Given the description of an element on the screen output the (x, y) to click on. 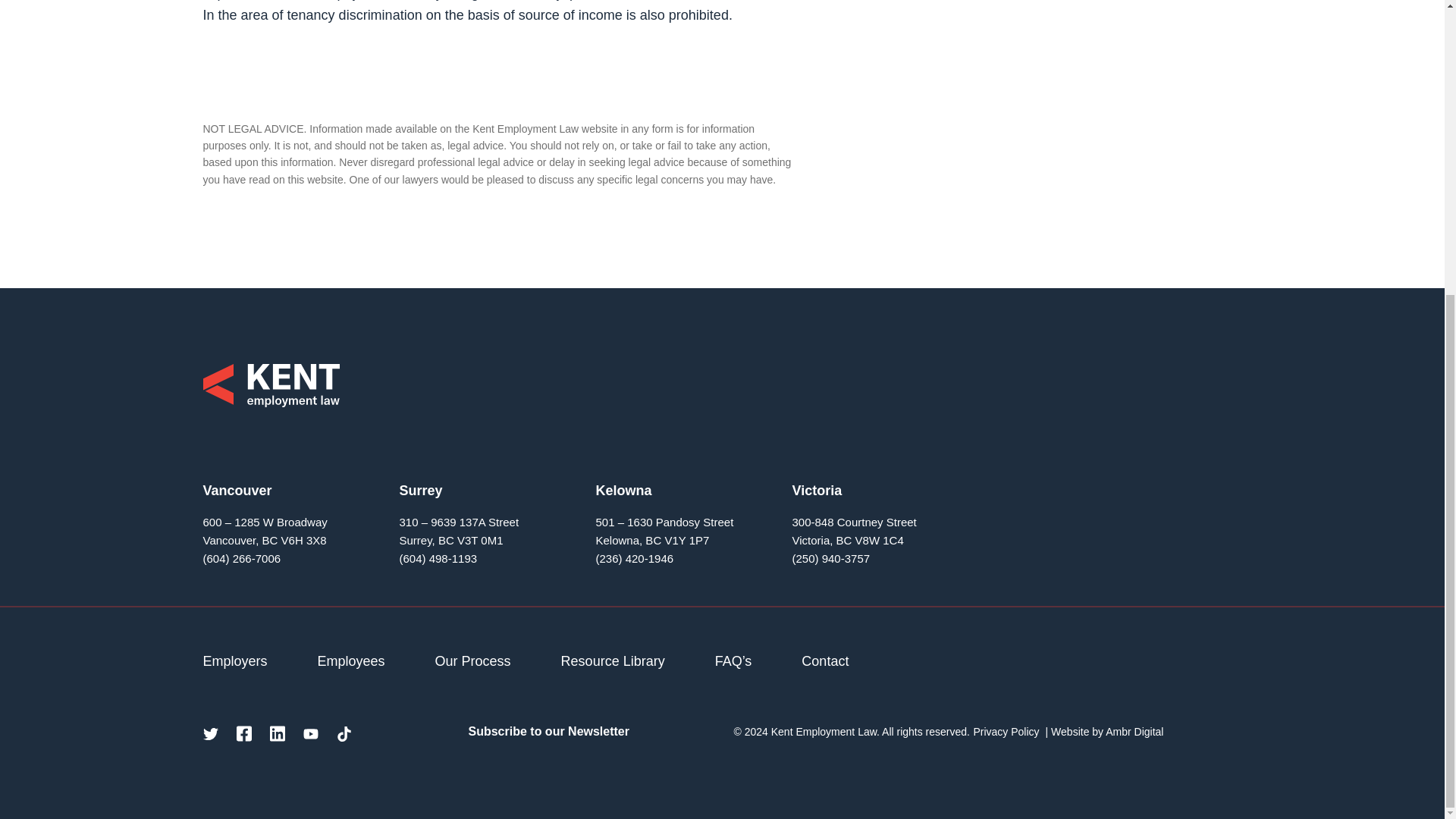
Vancouver (237, 490)
Kelowna (623, 490)
Surrey (420, 490)
Employees (351, 661)
Employers (235, 661)
Victoria (816, 490)
